Given the description of an element on the screen output the (x, y) to click on. 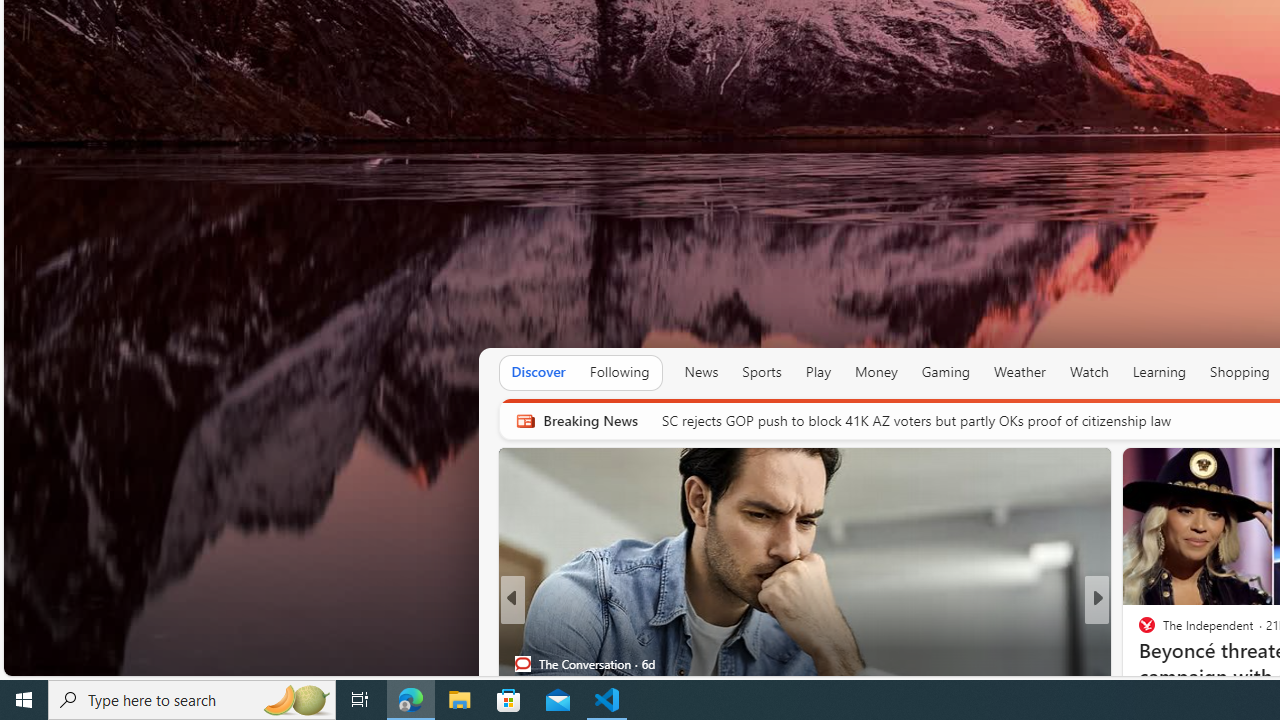
HowToGeek (1138, 632)
Hollywood Reporter (1138, 632)
The Conversation (522, 663)
Rolling Stone (1138, 632)
MetroOpinion (1167, 663)
